Given the description of an element on the screen output the (x, y) to click on. 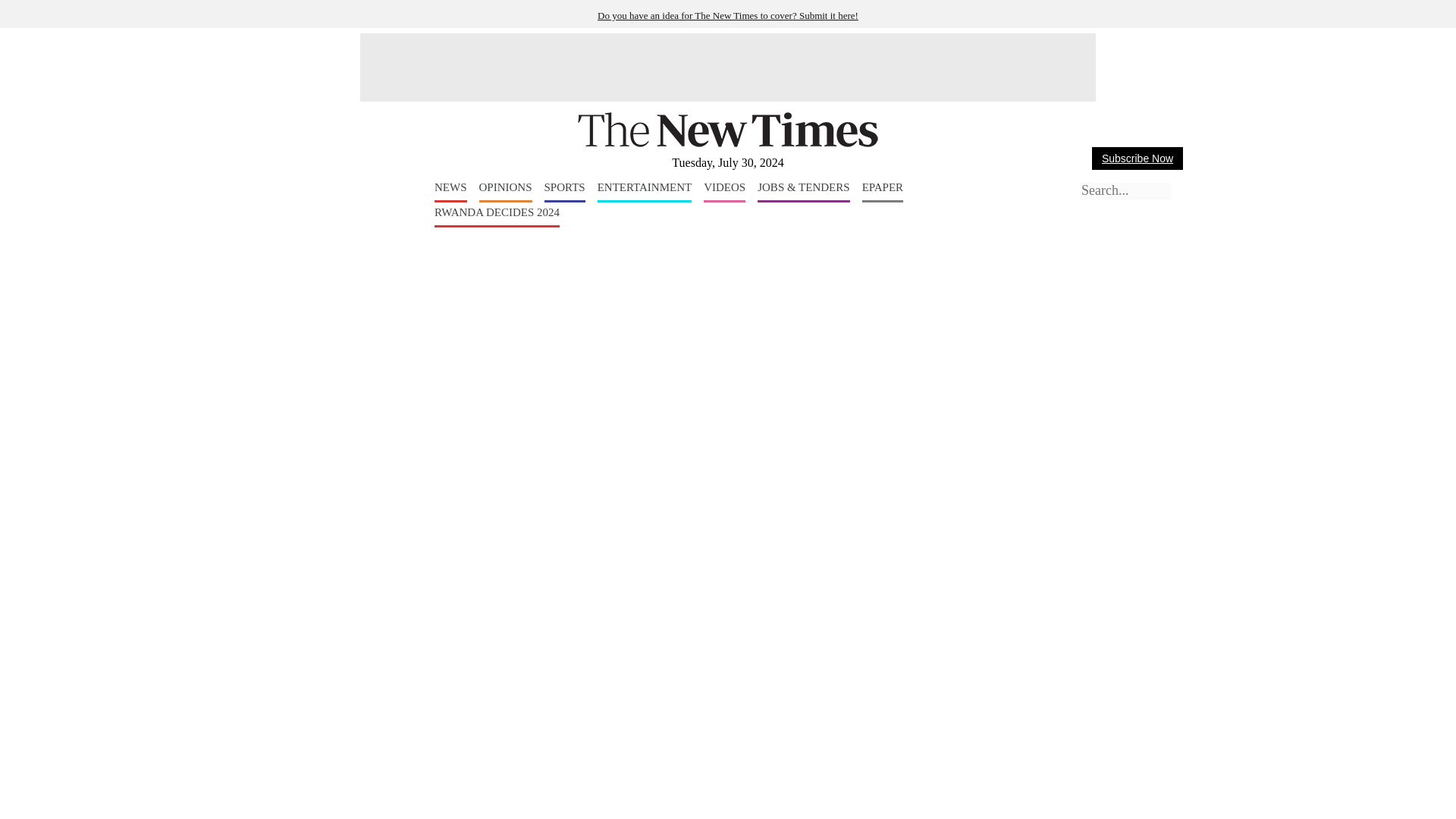
Subscribe Now (1137, 158)
Submit New Ideas (727, 15)
SPORTS (564, 191)
The New Times (727, 144)
NEWS (450, 191)
News (450, 191)
OPINIONS (505, 191)
